Given the description of an element on the screen output the (x, y) to click on. 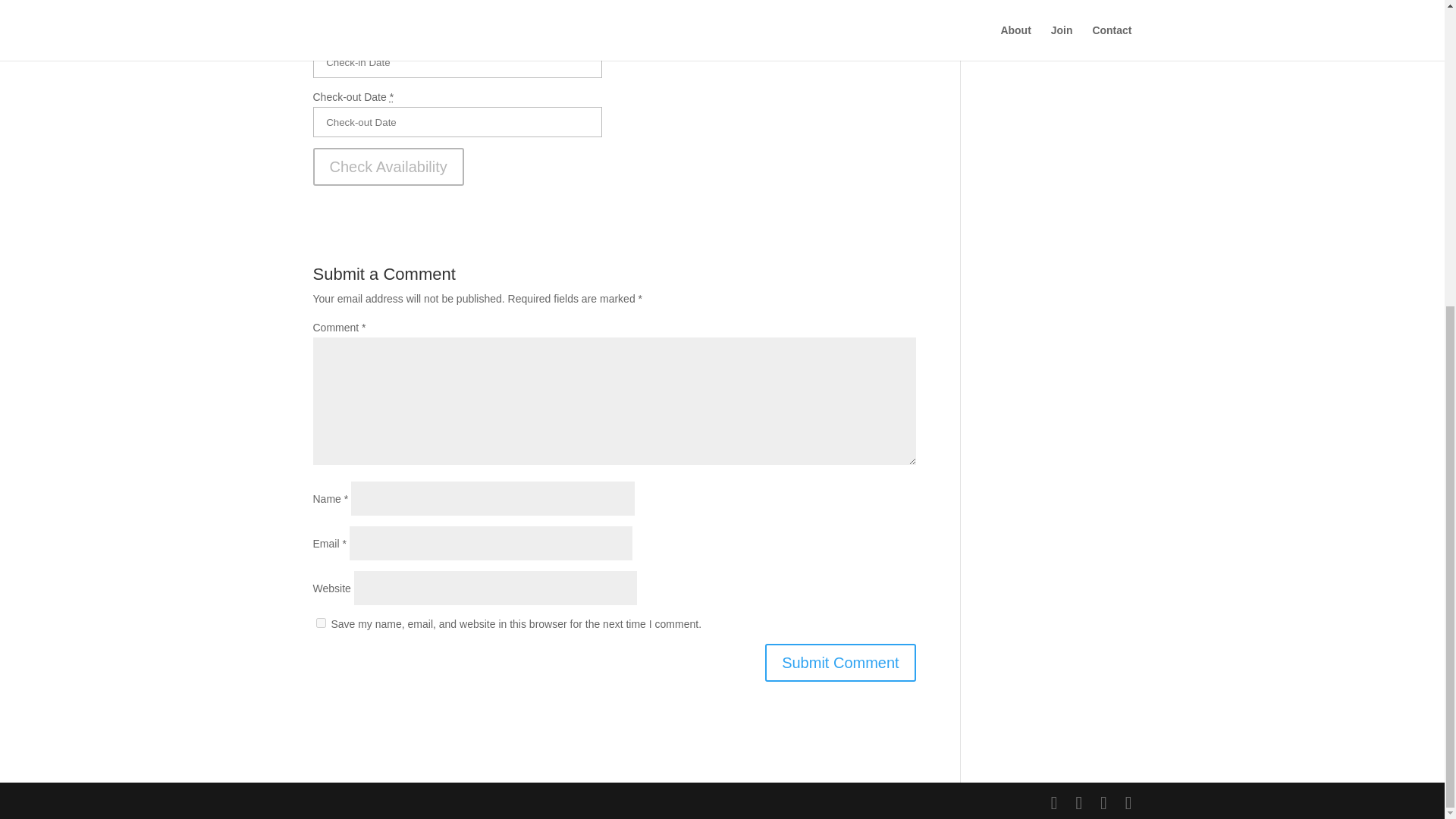
yes (319, 623)
Submit Comment (840, 662)
Submit Comment (840, 662)
Check Availability (388, 166)
Check Availability (388, 166)
